Given the description of an element on the screen output the (x, y) to click on. 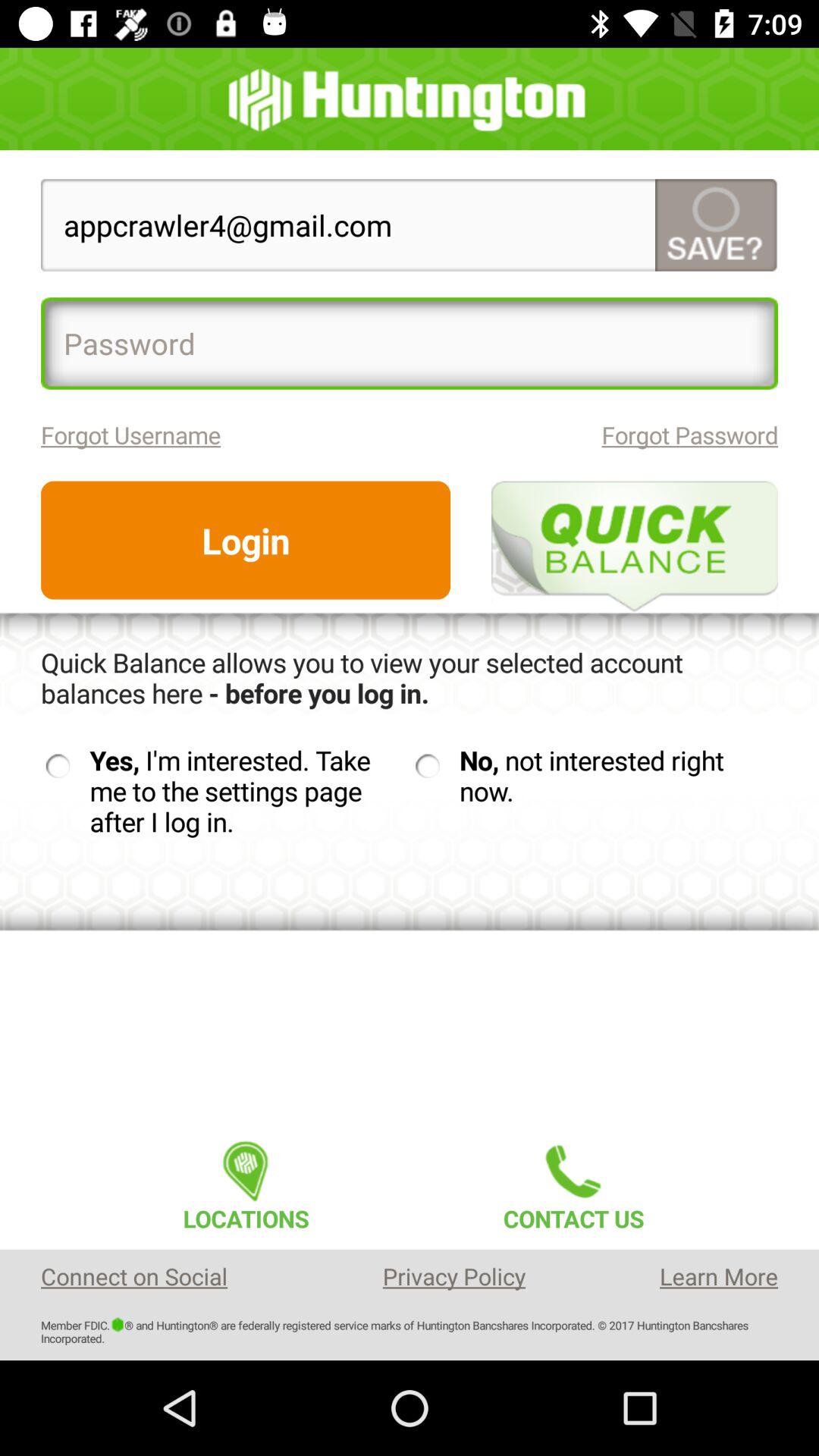
select the item to the left of contact us item (245, 1181)
